Given the description of an element on the screen output the (x, y) to click on. 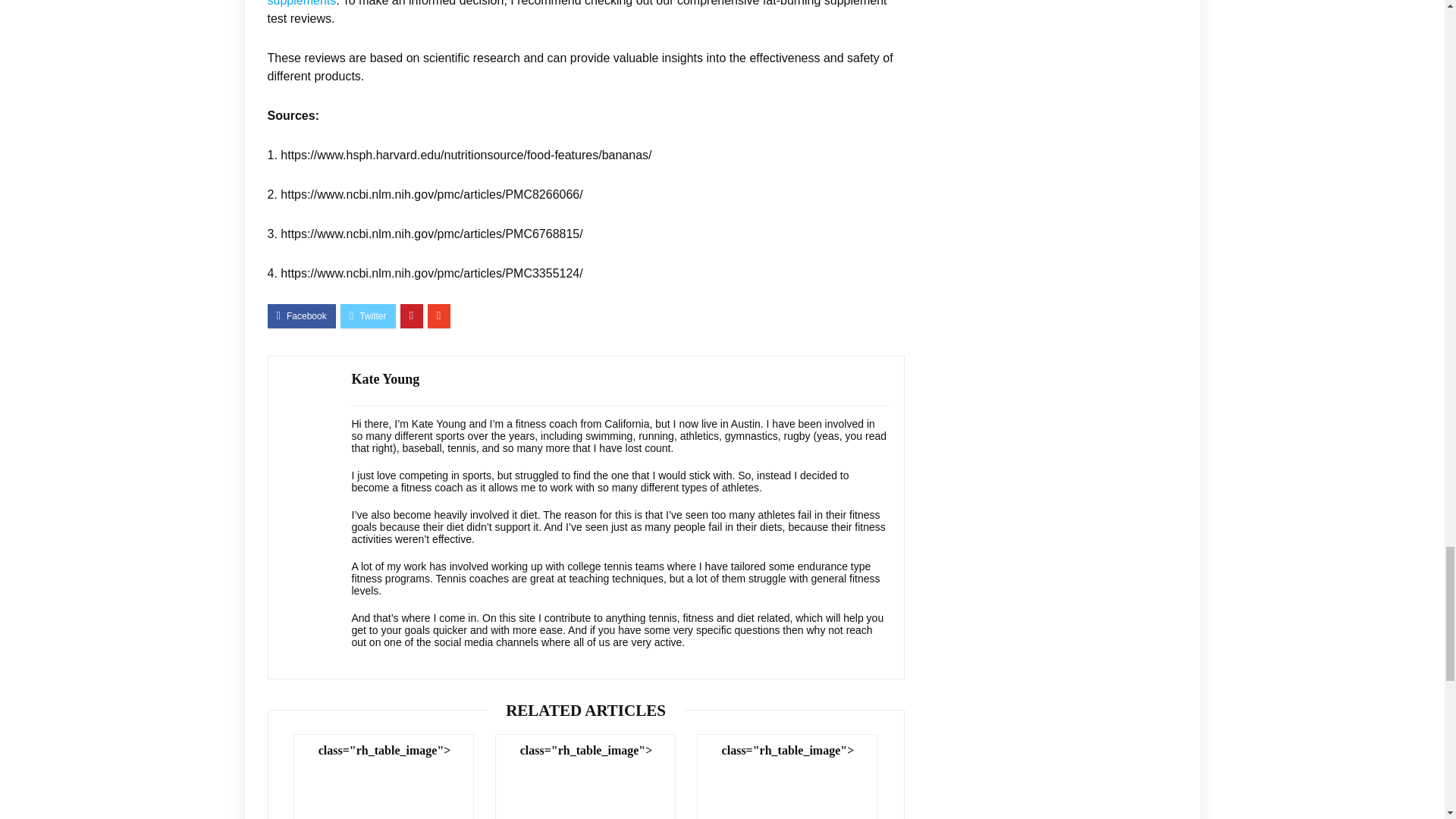
Kate Young (386, 378)
fat-burning supplements (547, 3)
Posts by Kate Young (386, 378)
